Given the description of an element on the screen output the (x, y) to click on. 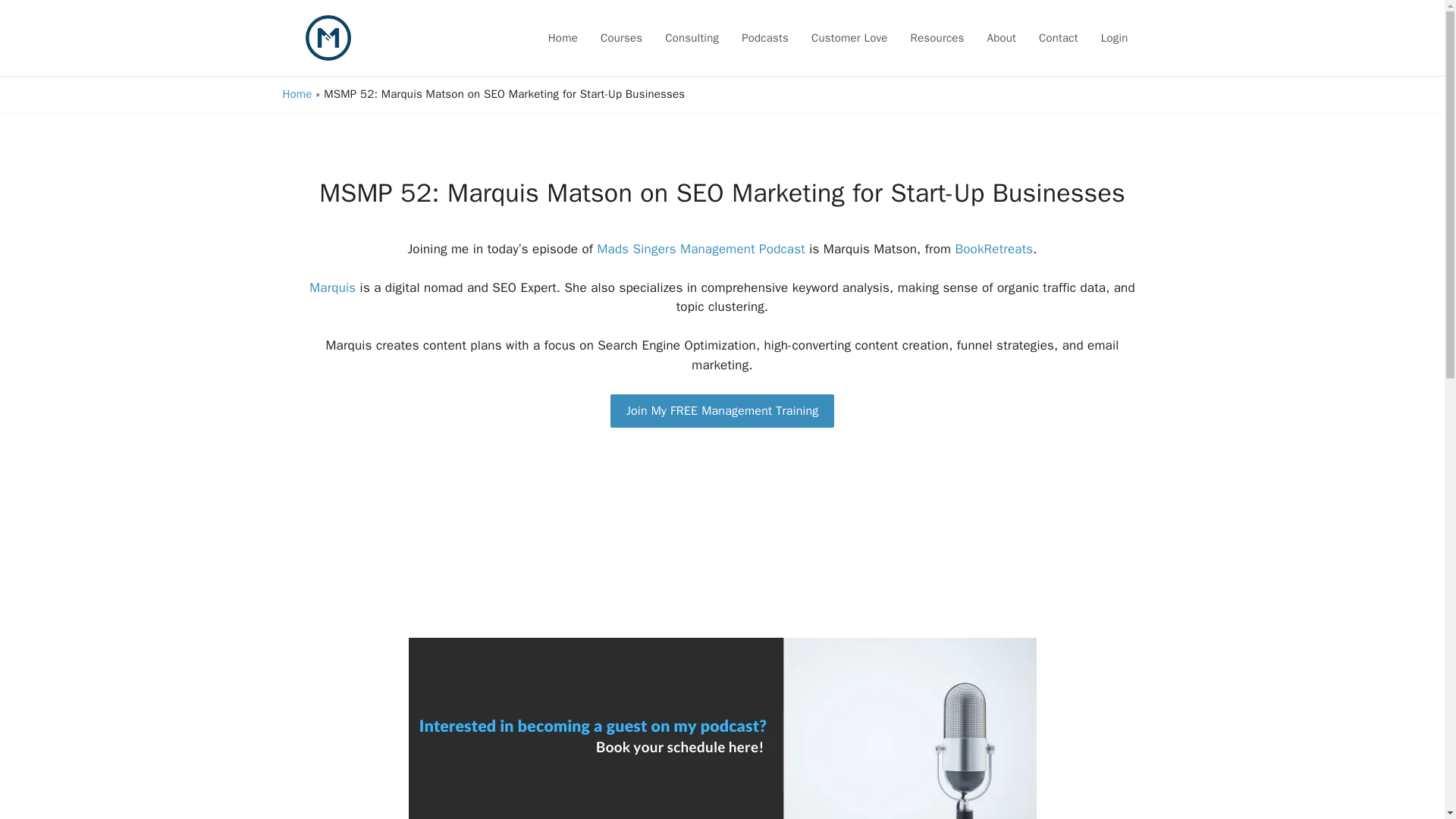
Customer Love (849, 37)
Courses (621, 37)
Mads Singers Management Podcast (700, 248)
Consulting (691, 37)
Home (296, 93)
Marquis (331, 287)
Contact (1058, 37)
Podcasts (764, 37)
Resources (937, 37)
BookRetreats (993, 248)
